Given the description of an element on the screen output the (x, y) to click on. 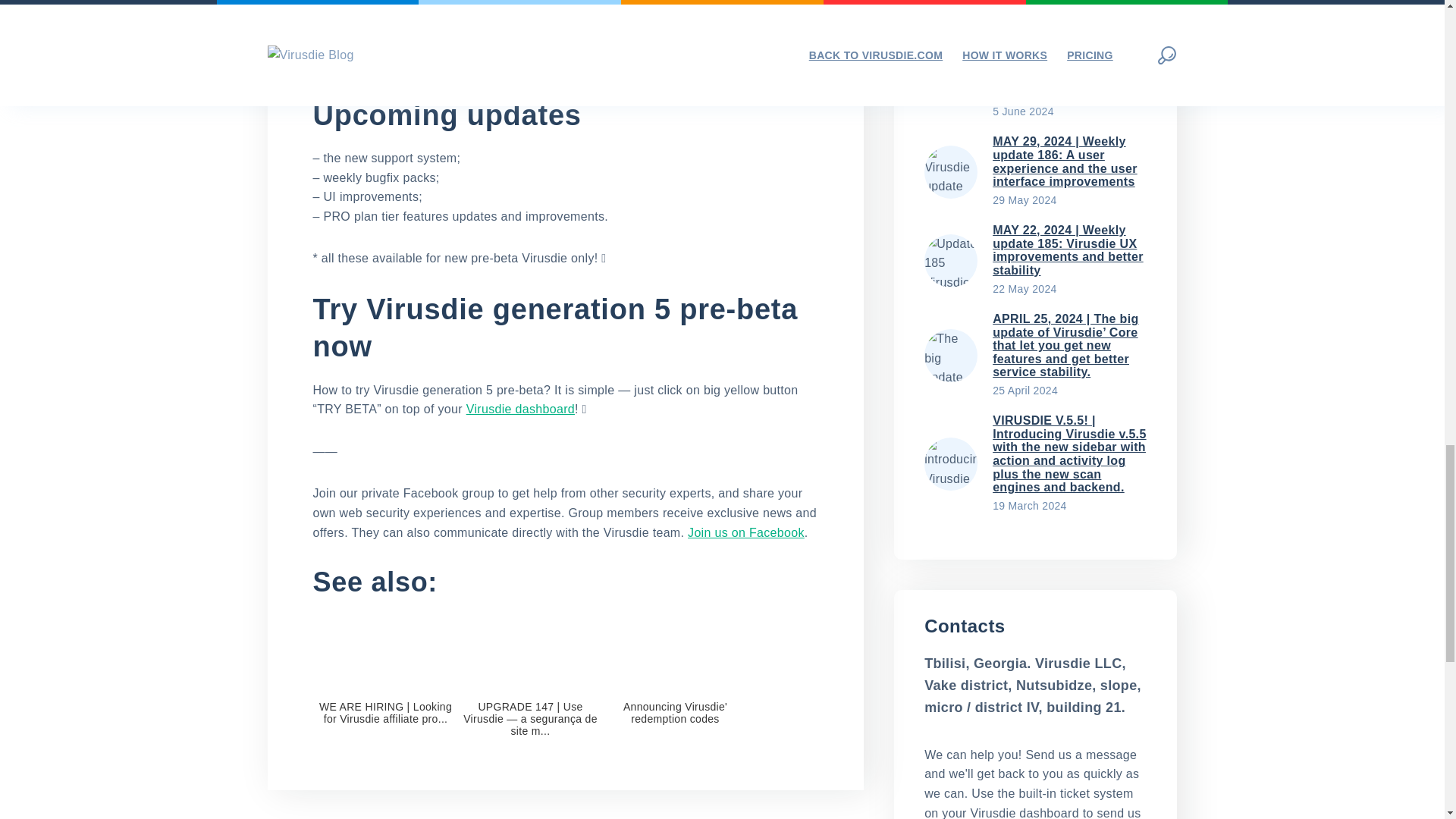
Announcing Virusdie' redemption codes (675, 677)
Join us on Facebook (746, 532)
Virusdie dashboard (520, 408)
